Given the description of an element on the screen output the (x, y) to click on. 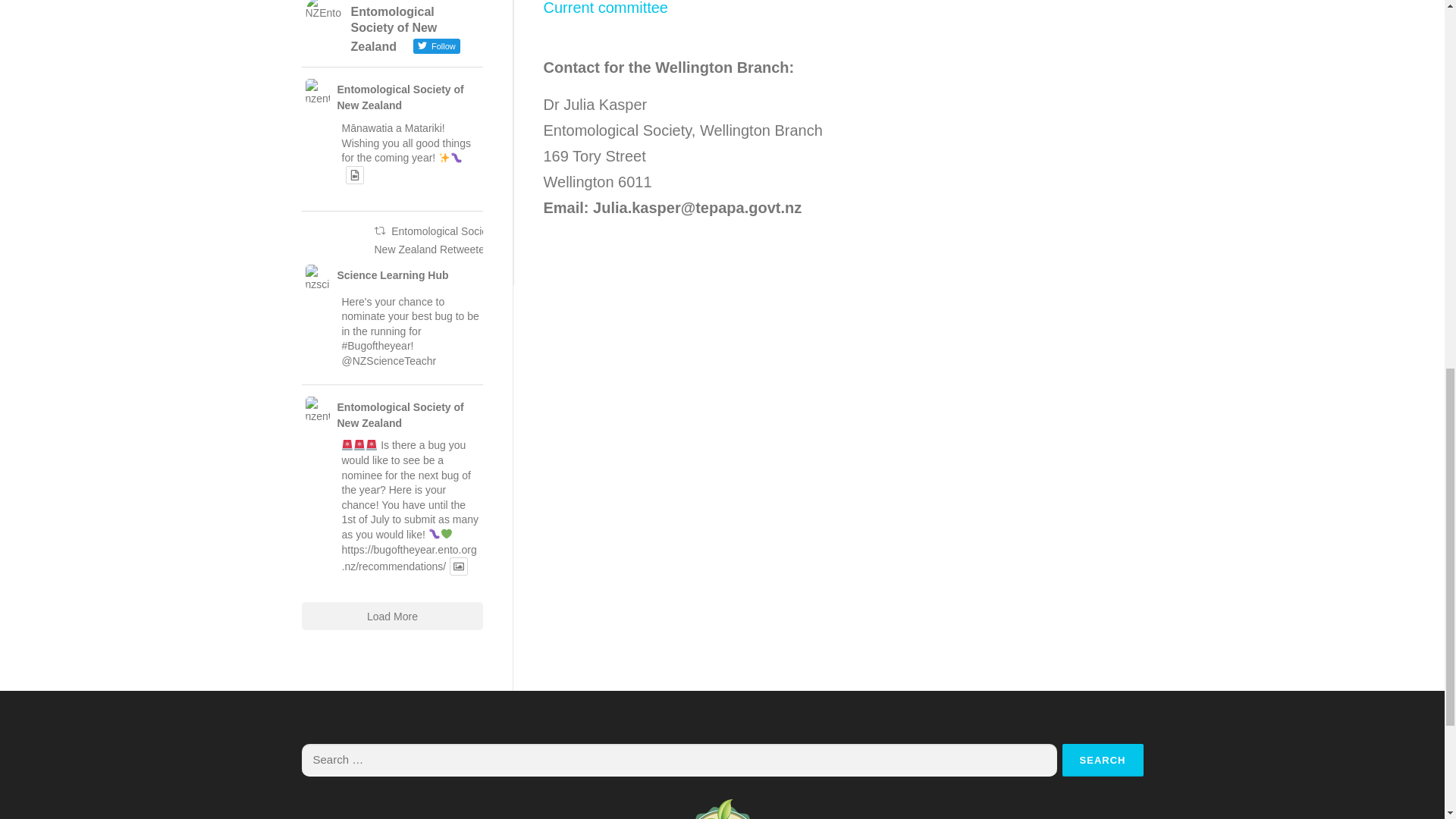
Entomological Society of New Zealand (406, 97)
Entomological Society of New Zealand Retweeted (441, 240)
Current committee (605, 7)
Science Learning Hub (392, 275)
Entomological Society of New Zealand Follow (391, 27)
Search (1102, 759)
Retweet on Twitter (379, 230)
Search (1102, 759)
